Given the description of an element on the screen output the (x, y) to click on. 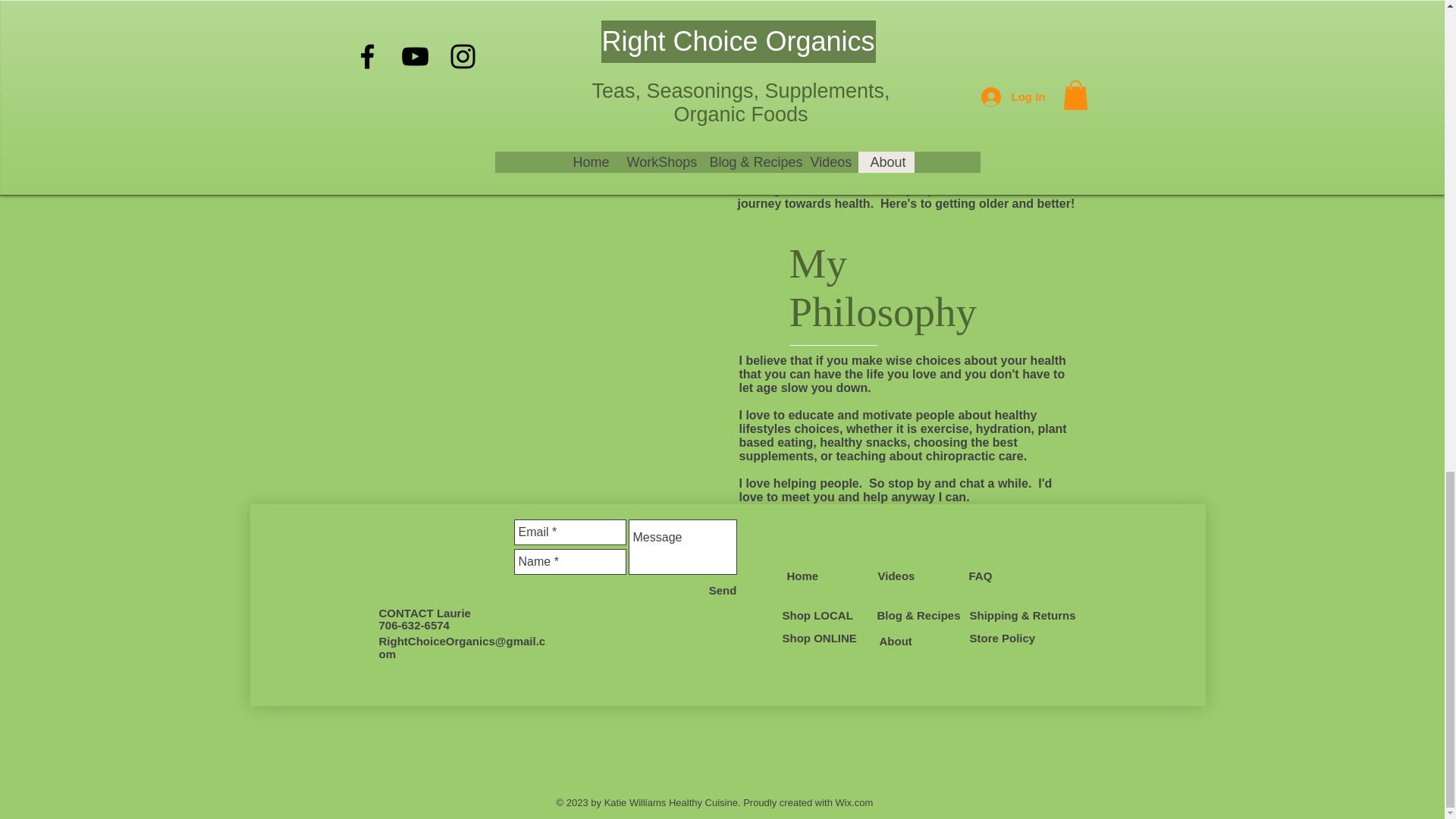
Shop ONLINE (820, 637)
Wix.com (854, 802)
706-632-6574 (413, 625)
Videos (896, 575)
Store Policy (1002, 637)
Shop LOCAL (818, 615)
Send (722, 589)
About (895, 640)
FAQ (980, 575)
Home (802, 575)
